Given the description of an element on the screen output the (x, y) to click on. 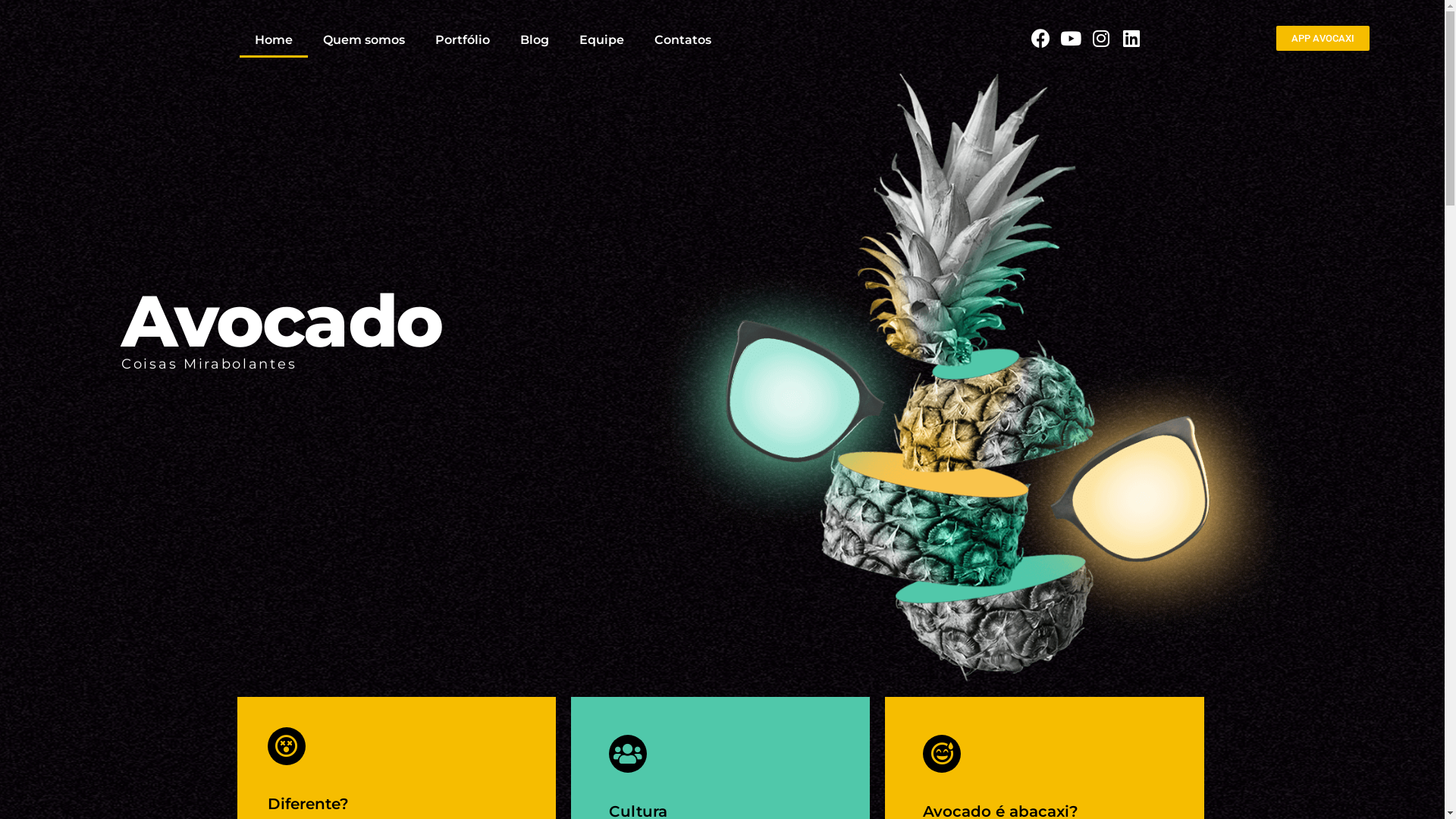
Quem somos Element type: text (363, 39)
Home Element type: text (273, 39)
Contatos Element type: text (682, 39)
Blog Element type: text (534, 39)
APP AVOCAXI Element type: text (1322, 37)
Equipe Element type: text (601, 39)
